Given the description of an element on the screen output the (x, y) to click on. 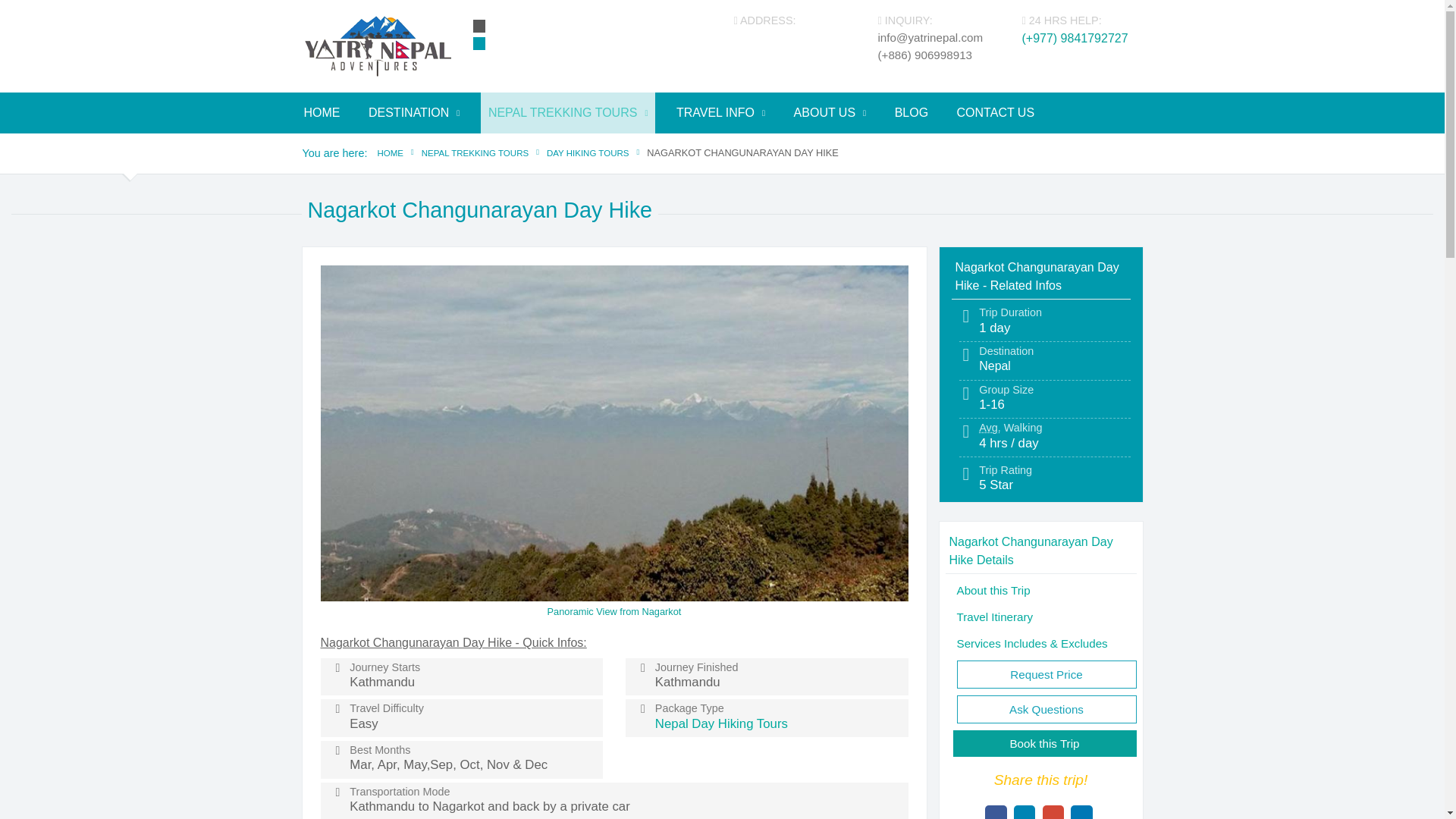
Annapurna Circuit Trek (973, 148)
Home (376, 44)
HOME (321, 112)
Bhutan tour (656, 148)
NEPAL TREKKING TOURS (568, 112)
Bhutan Tours (656, 148)
Nepal Trekking Packages (579, 148)
Annapurna Base Camp Trek (973, 148)
Tibet (459, 148)
EBC and Gokyo Lakes Trek (976, 148)
DESTINATION (414, 112)
Nepal Trekking Packages (579, 148)
Nepal (459, 148)
Home (321, 112)
